Given the description of an element on the screen output the (x, y) to click on. 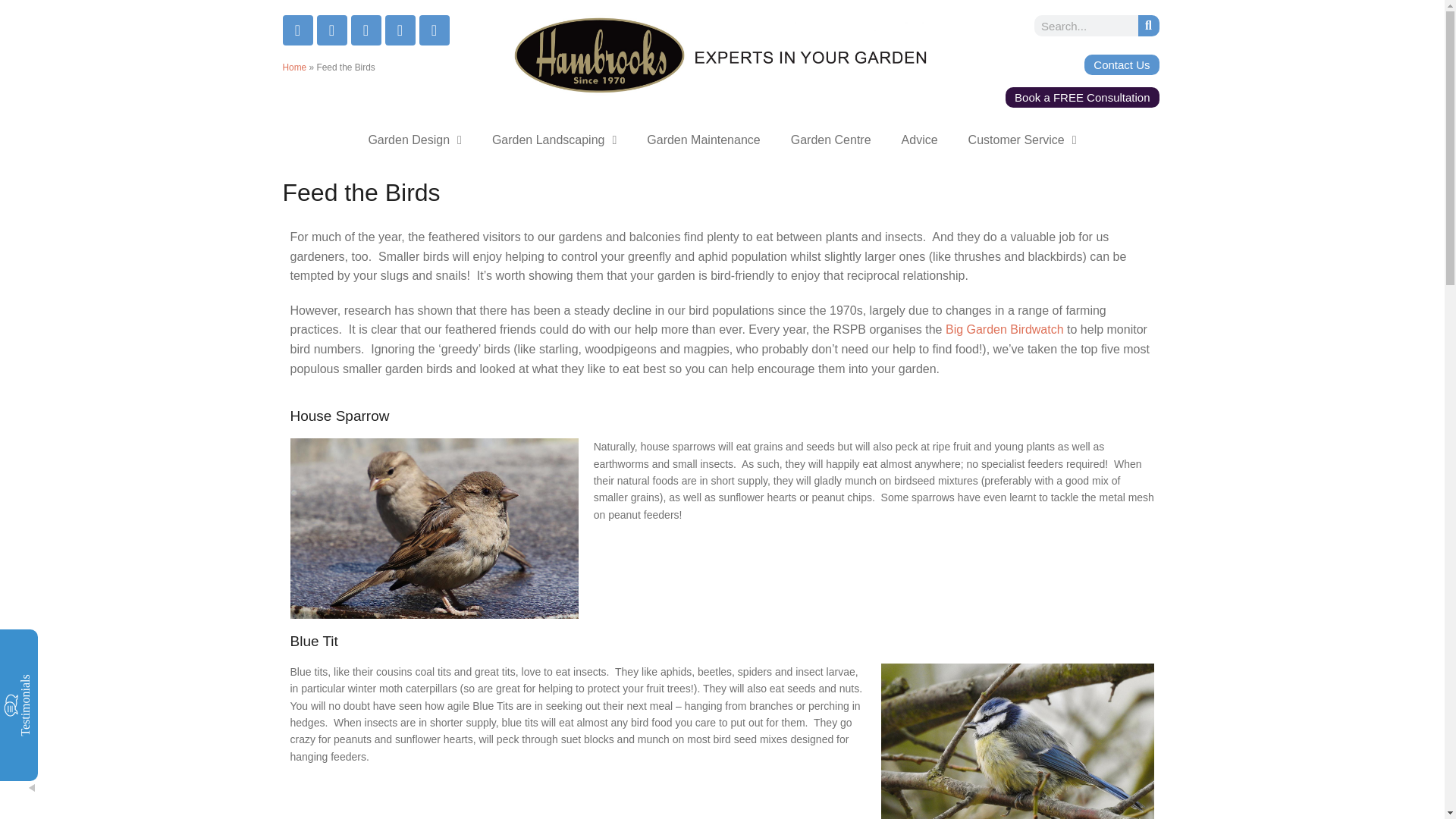
Advice (919, 140)
Garden Centre (831, 140)
Garden Design (414, 140)
Garden Maintenance (702, 140)
Customer Service (1022, 140)
Garden Landscaping (554, 140)
Book a FREE Consultation (1082, 96)
Home (293, 67)
Contact Us (1121, 64)
